Given the description of an element on the screen output the (x, y) to click on. 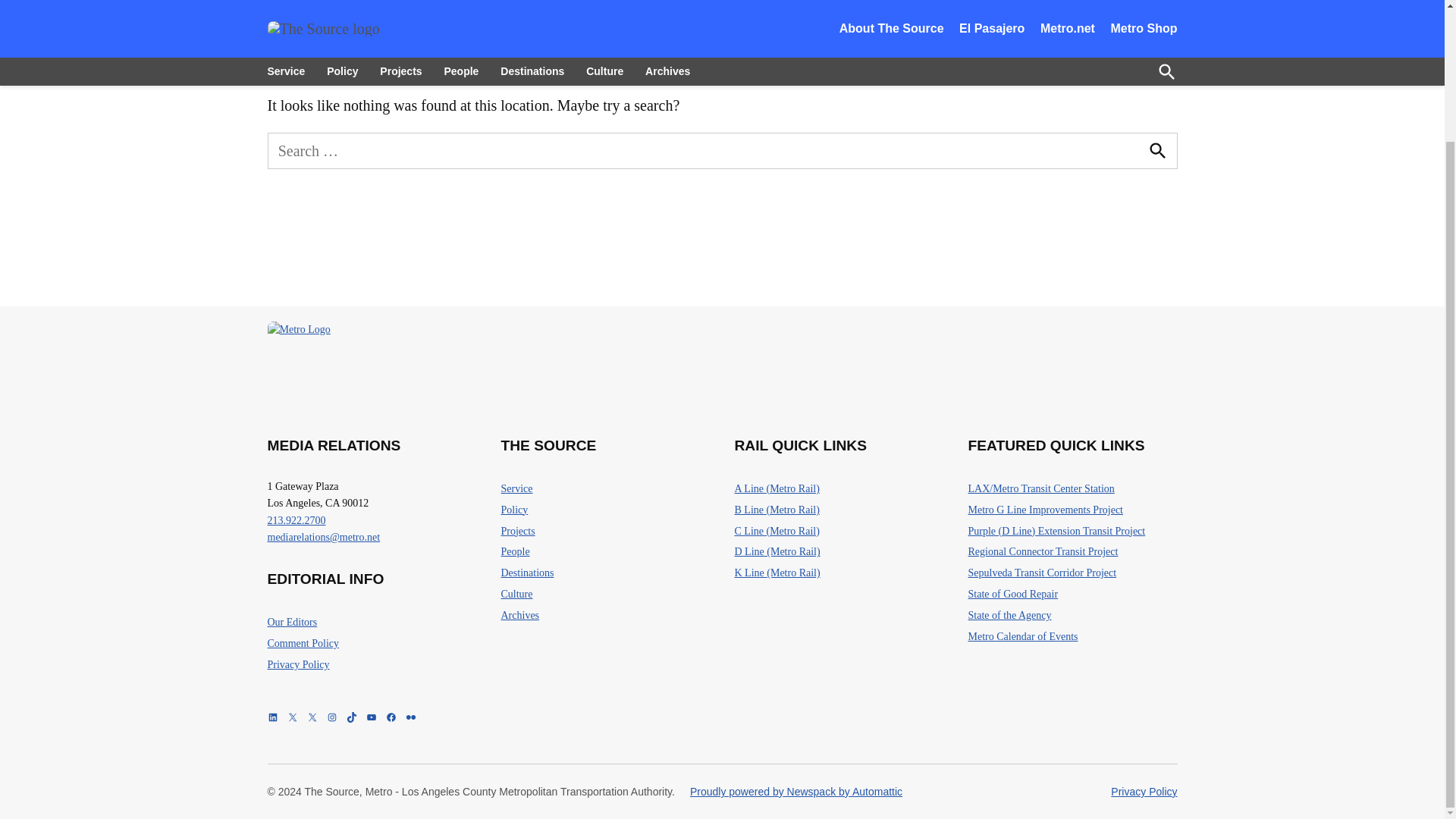
Comment Policy (302, 643)
Service (516, 488)
Our Editors (291, 622)
213.922.2700 (295, 520)
Privacy Policy (297, 665)
Search (1156, 150)
